Given the description of an element on the screen output the (x, y) to click on. 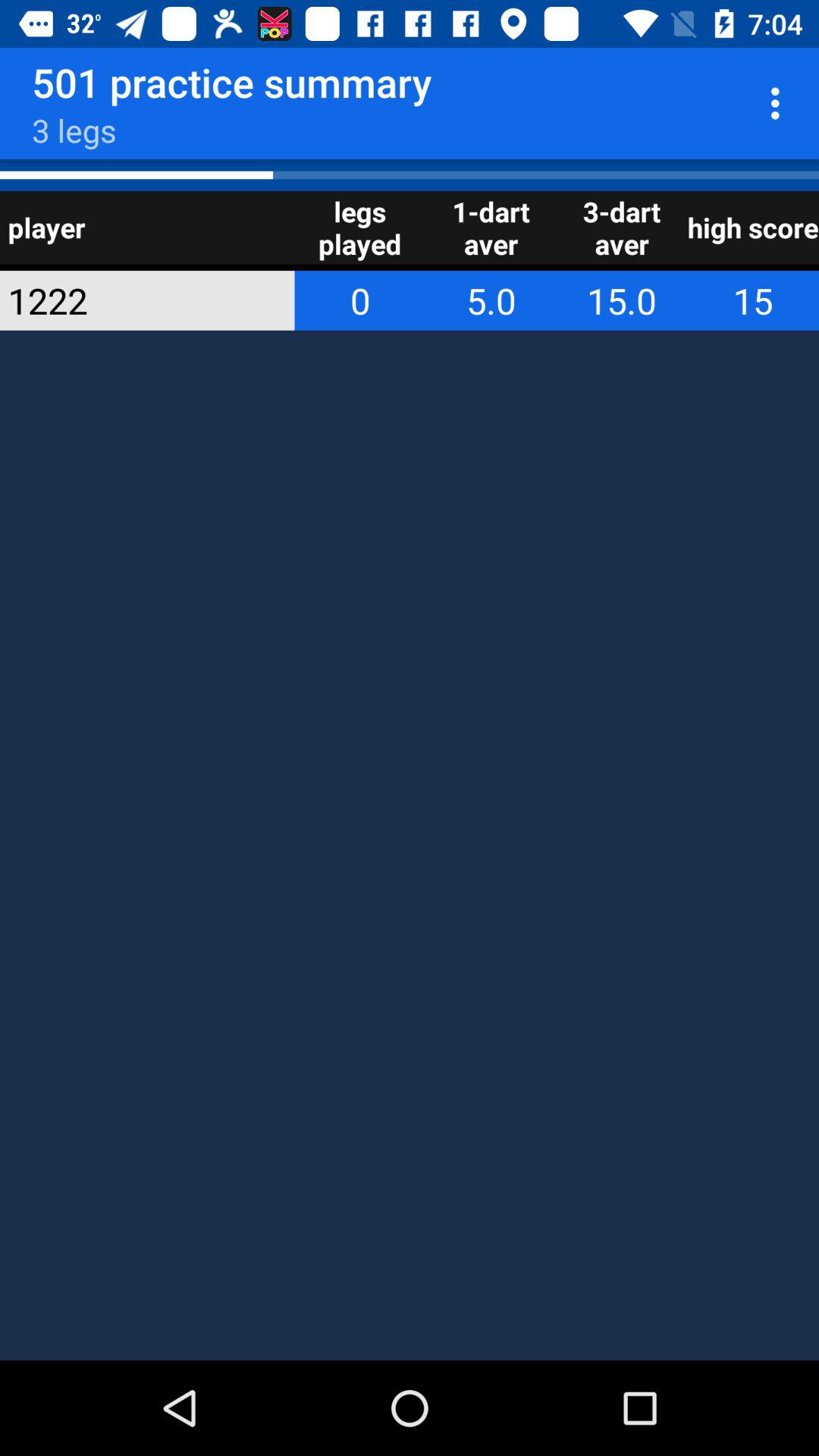
launch app to the right of 501 practice summary (779, 103)
